Given the description of an element on the screen output the (x, y) to click on. 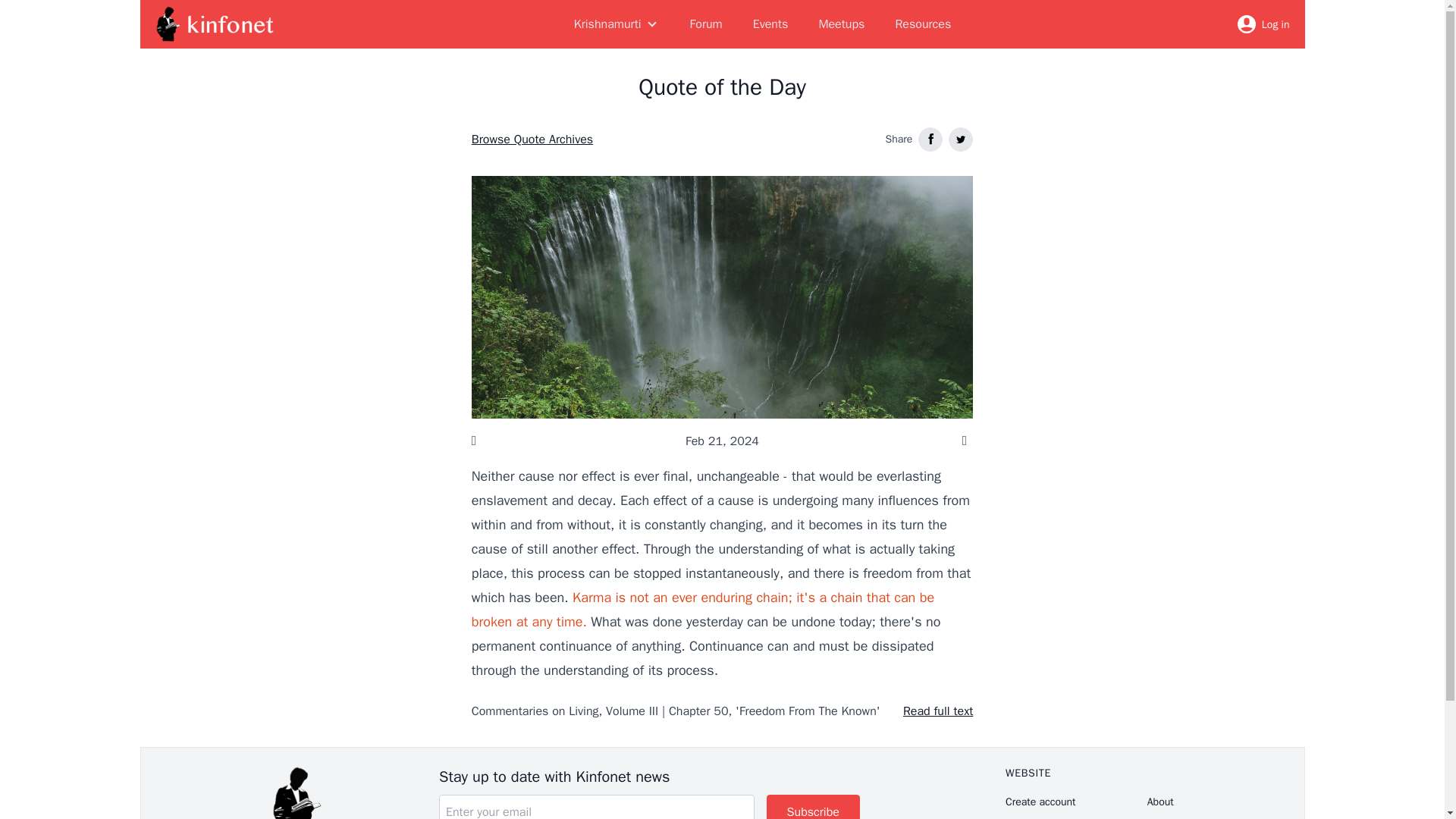
Create account (1076, 802)
Subscribe (813, 806)
Krishnamurti (616, 23)
Read full text (937, 711)
Meetups (841, 24)
Events (770, 24)
Subscribe (813, 806)
Forum (706, 24)
Browse Quote Archives (531, 138)
Resources (922, 24)
